Given the description of an element on the screen output the (x, y) to click on. 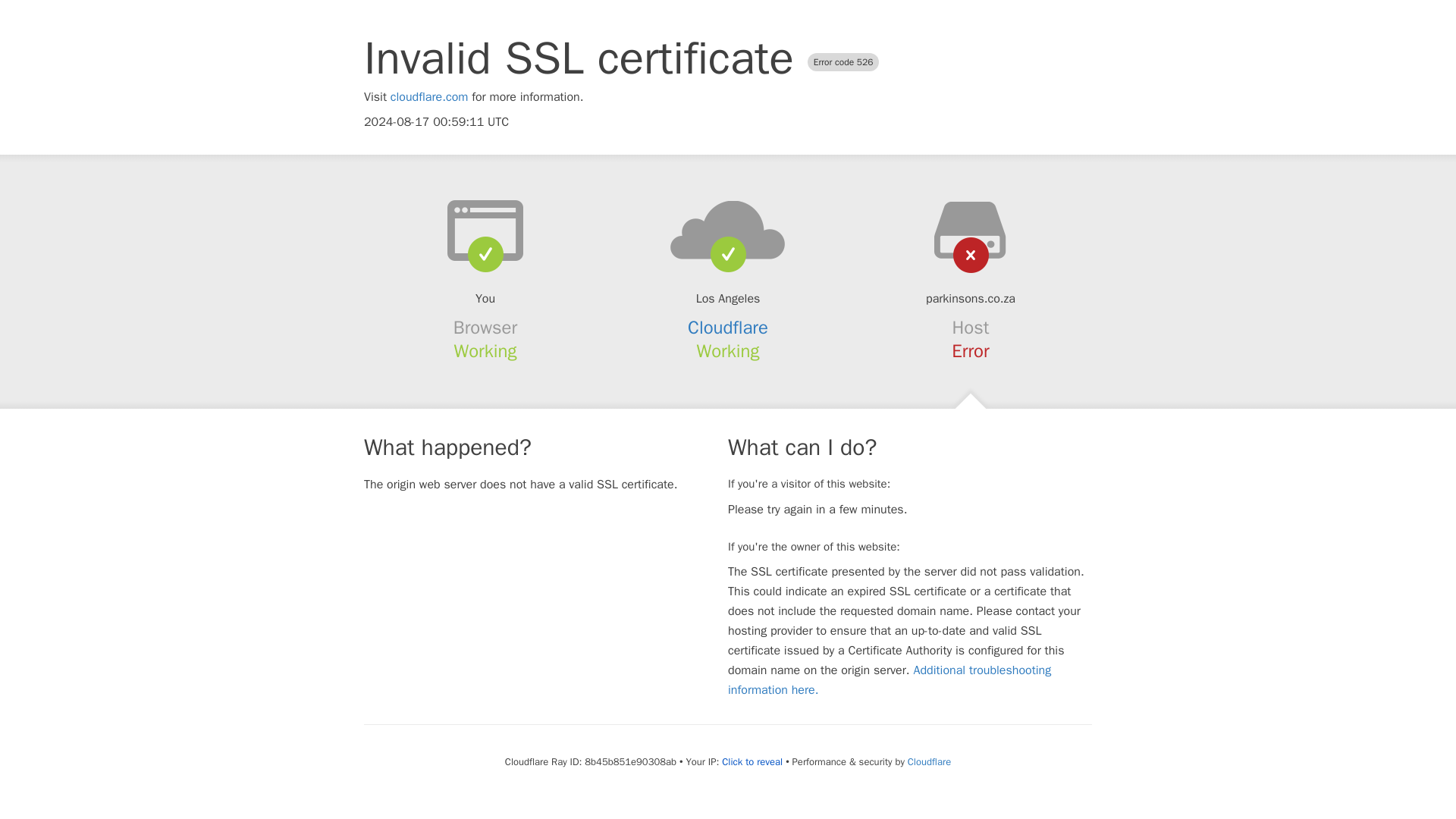
Click to reveal (752, 762)
cloudflare.com (429, 96)
Cloudflare (928, 761)
Additional troubleshooting information here. (889, 679)
Cloudflare (727, 327)
